Given the description of an element on the screen output the (x, y) to click on. 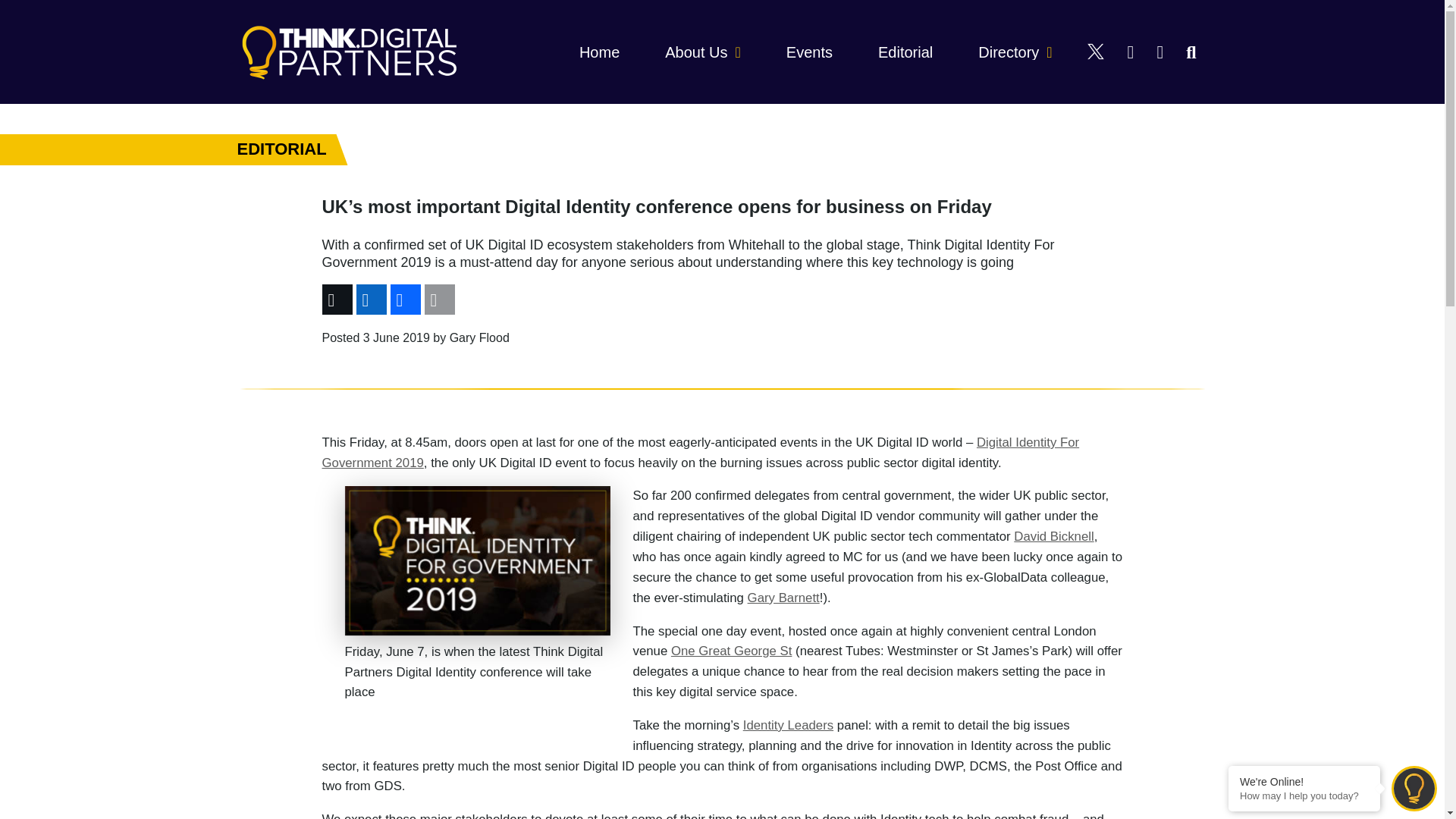
Directory (1014, 52)
Editorial (905, 52)
LinkedIn (368, 299)
Email This (437, 299)
Identity Leaders (787, 725)
Events (809, 52)
Home (599, 52)
Digital Identity For Government 2019 (699, 452)
We're Online! (1304, 781)
About Us (703, 52)
How may I help you today? (1304, 795)
David Bicknell (1053, 536)
Gary Barnett (783, 597)
Facebook (403, 299)
One Great George St (731, 650)
